Given the description of an element on the screen output the (x, y) to click on. 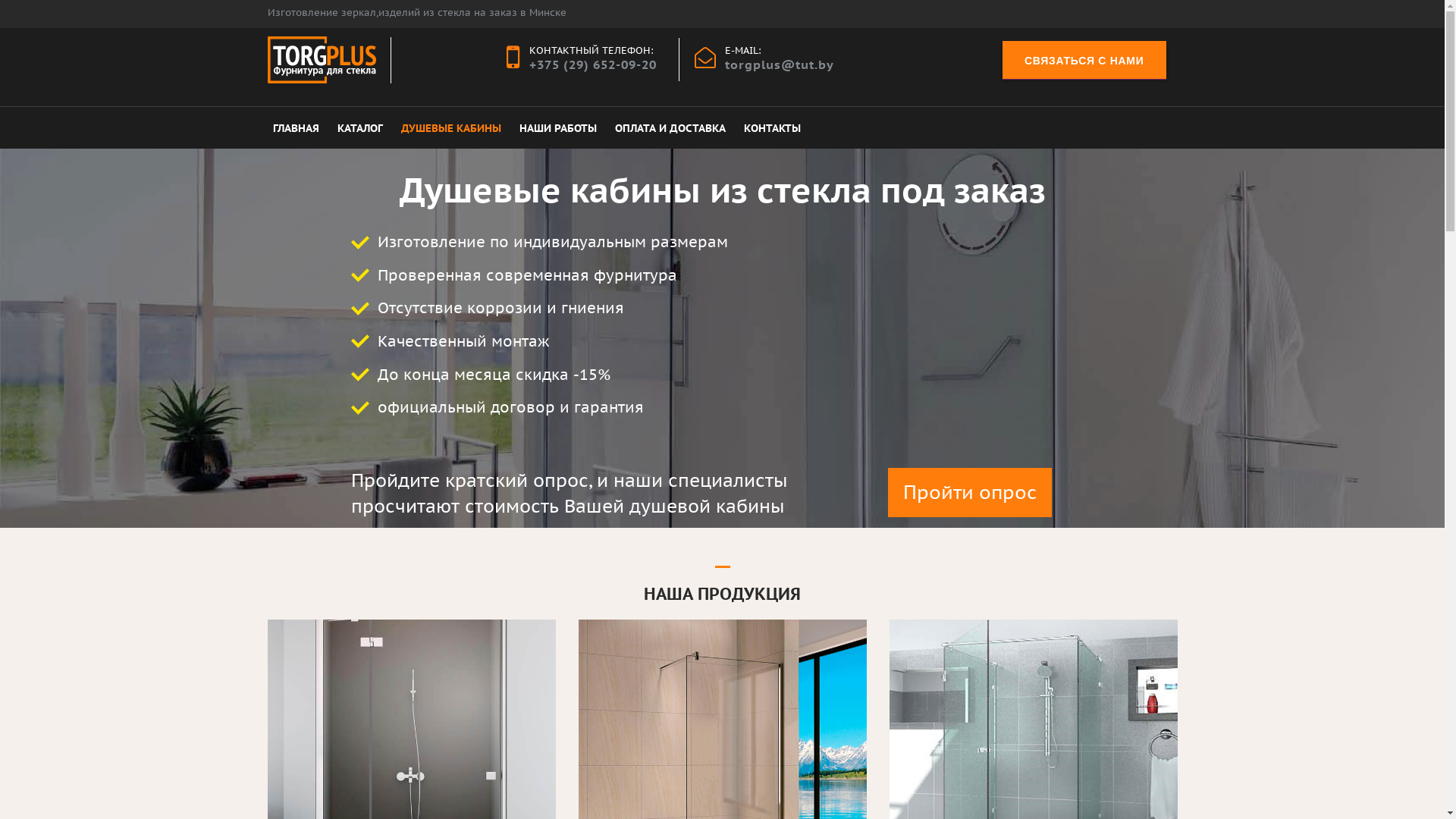
torgplus@tut.by Element type: text (779, 64)
+375 (29) 652-09-20 Element type: text (592, 64)
